Given the description of an element on the screen output the (x, y) to click on. 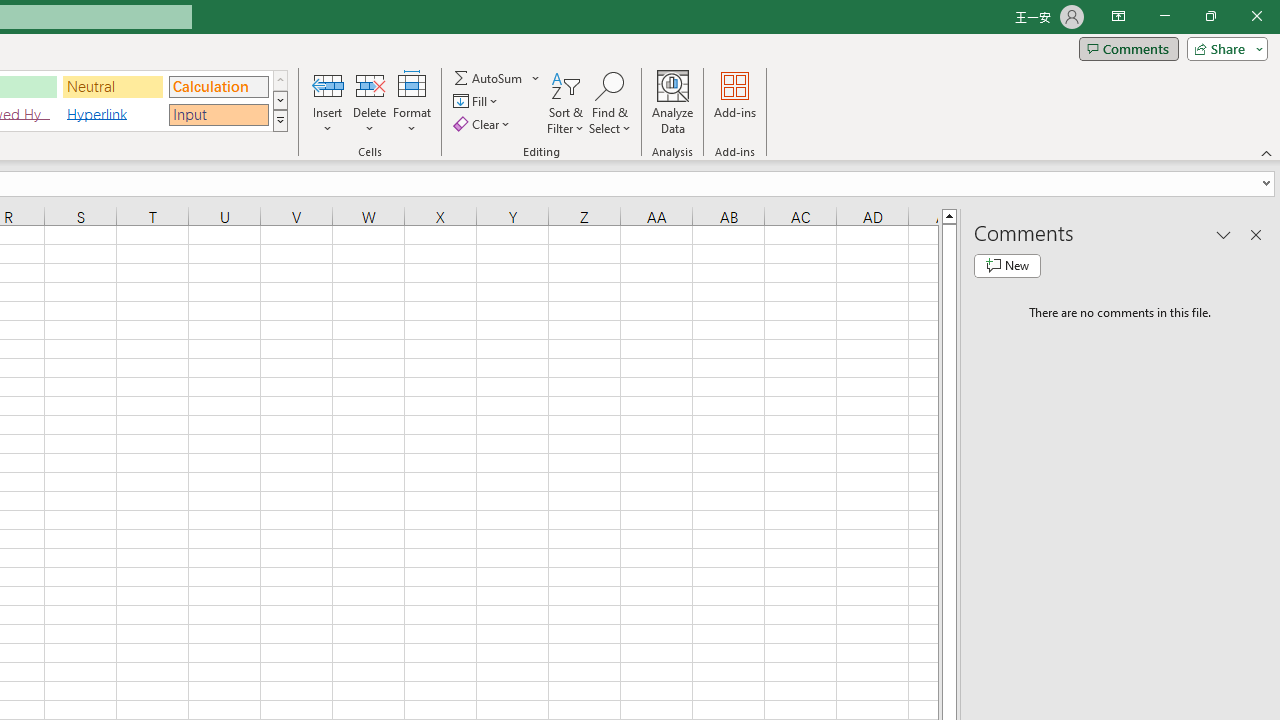
Sum (489, 78)
